Given the description of an element on the screen output the (x, y) to click on. 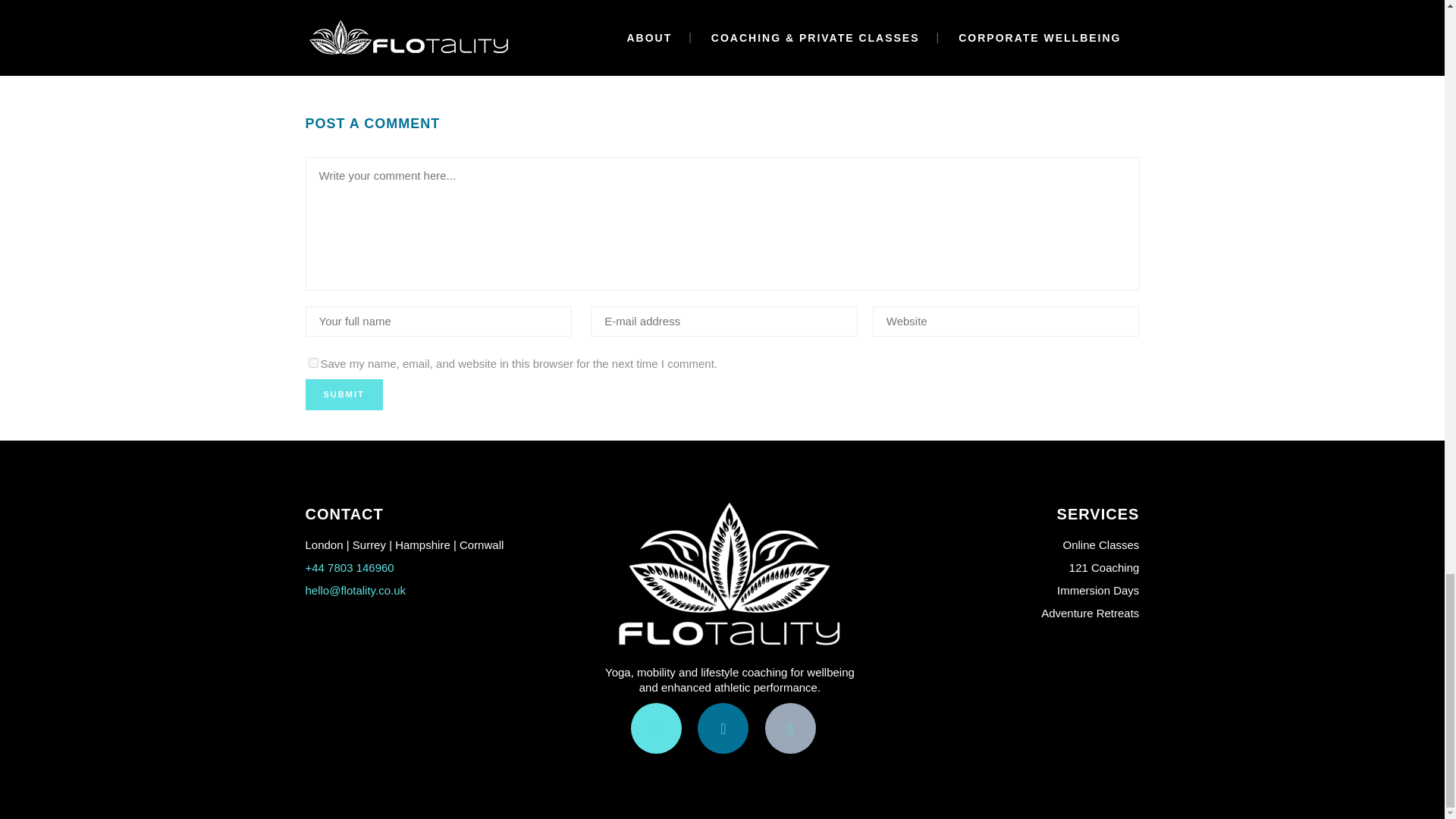
Submit (342, 394)
COLD WATER THERAPY (416, 11)
yes (312, 362)
Submit (342, 394)
